Given the description of an element on the screen output the (x, y) to click on. 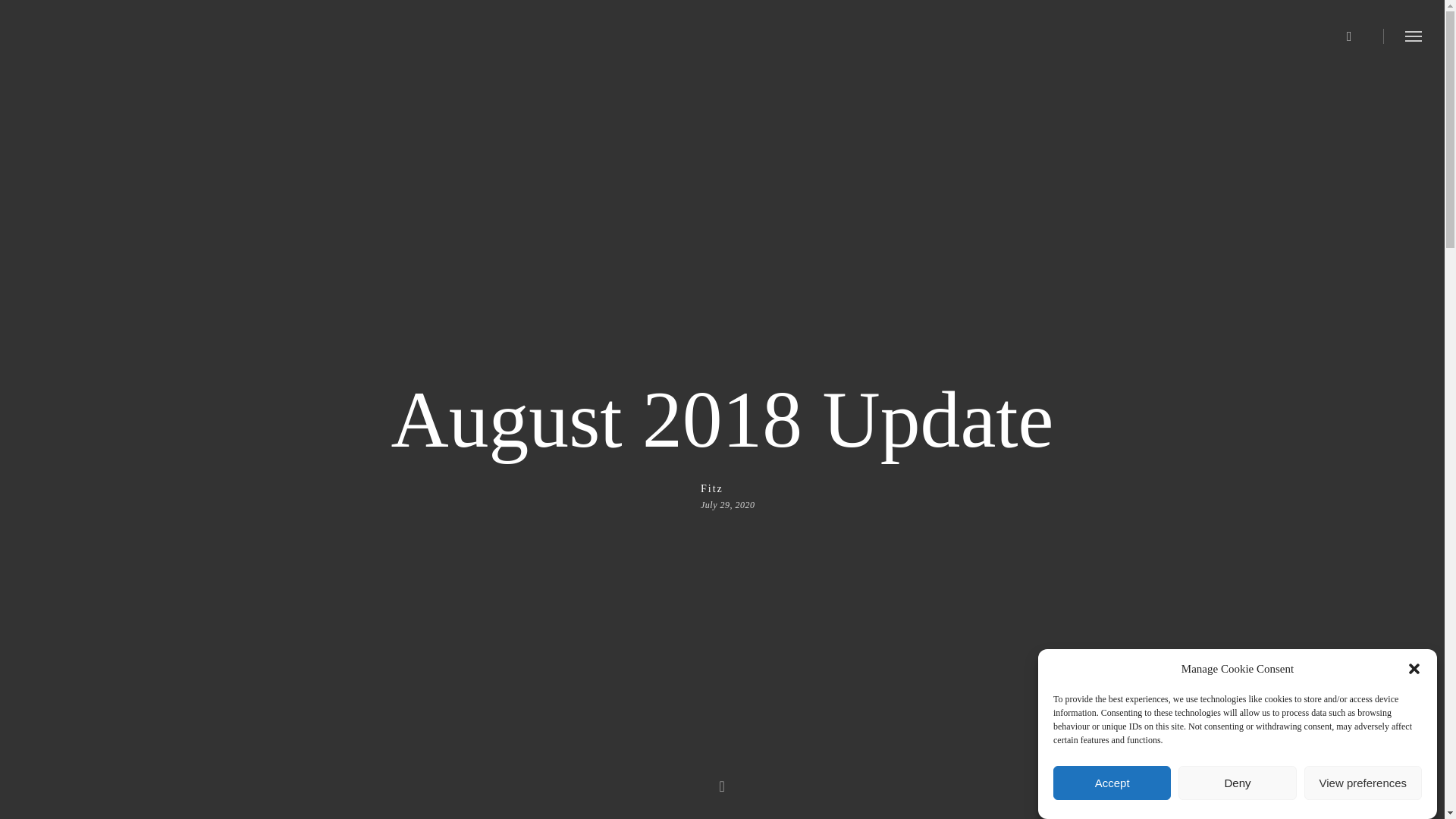
Posts by Fitz (727, 488)
Fitz (727, 488)
